Given the description of an element on the screen output the (x, y) to click on. 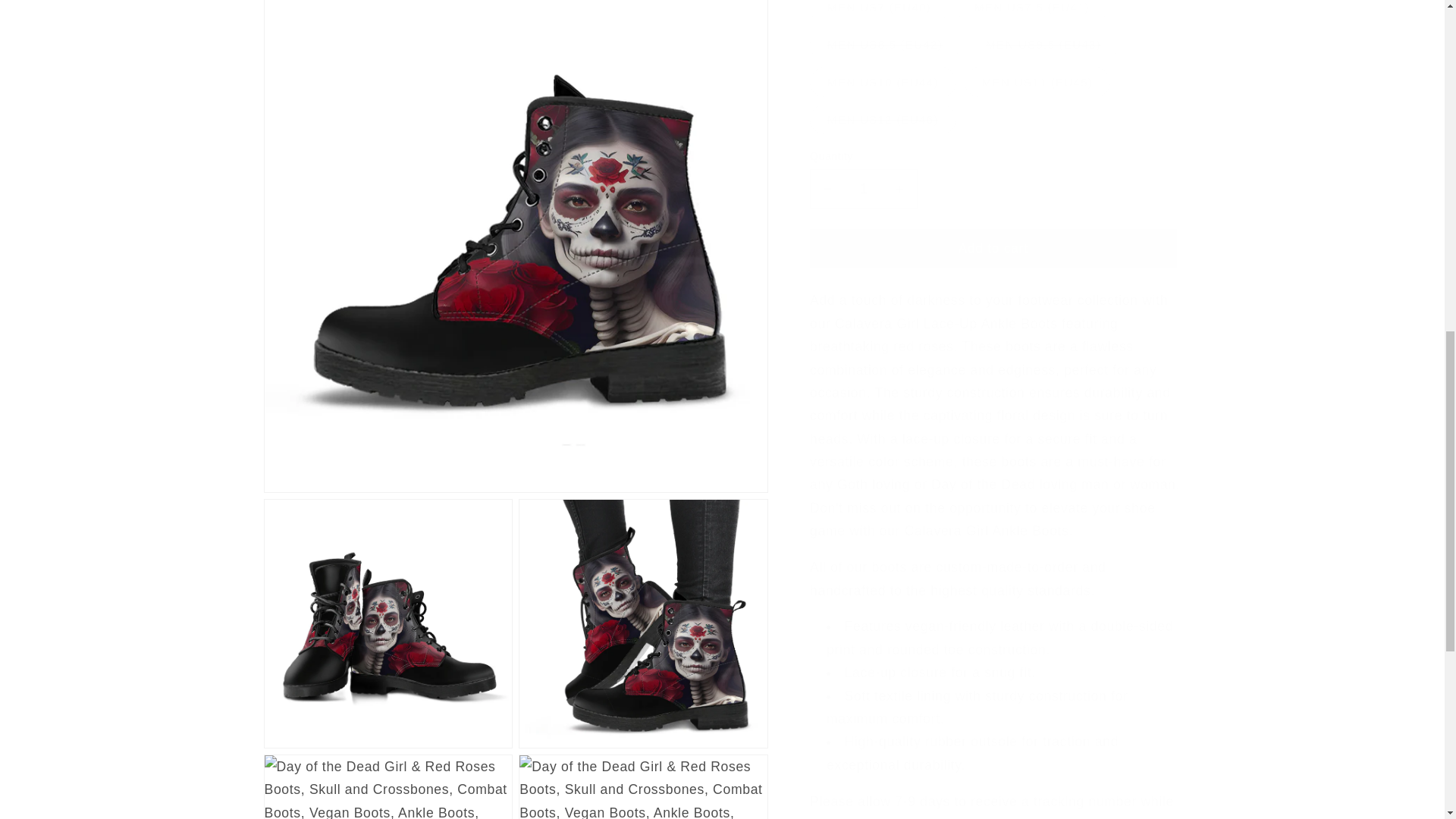
Open media 2 in modal (388, 35)
Open media 4 in modal (388, 201)
Open media 3 in modal (643, 35)
Open media 5 in modal (643, 201)
